Given the description of an element on the screen output the (x, y) to click on. 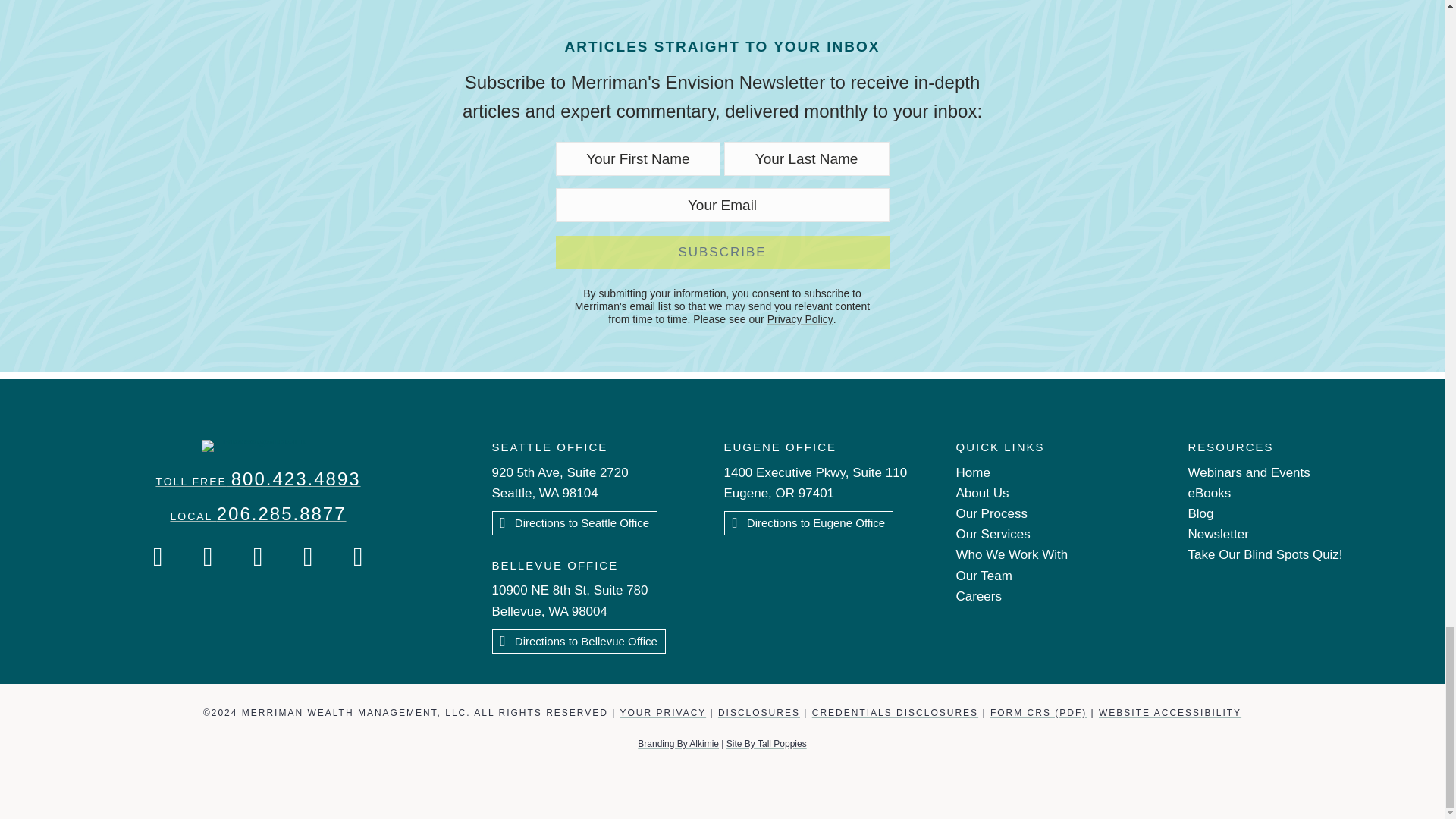
Subscribe (721, 252)
Merriman's Instagram Account (208, 556)
Click Here (575, 523)
Merriman's Twitter Account (259, 556)
Click Here (808, 523)
Click Here (578, 641)
Merriman's LinkedIn (358, 556)
Merriman's Facebook Page (158, 556)
Merriman's YouTube Channel (308, 556)
